Given the description of an element on the screen output the (x, y) to click on. 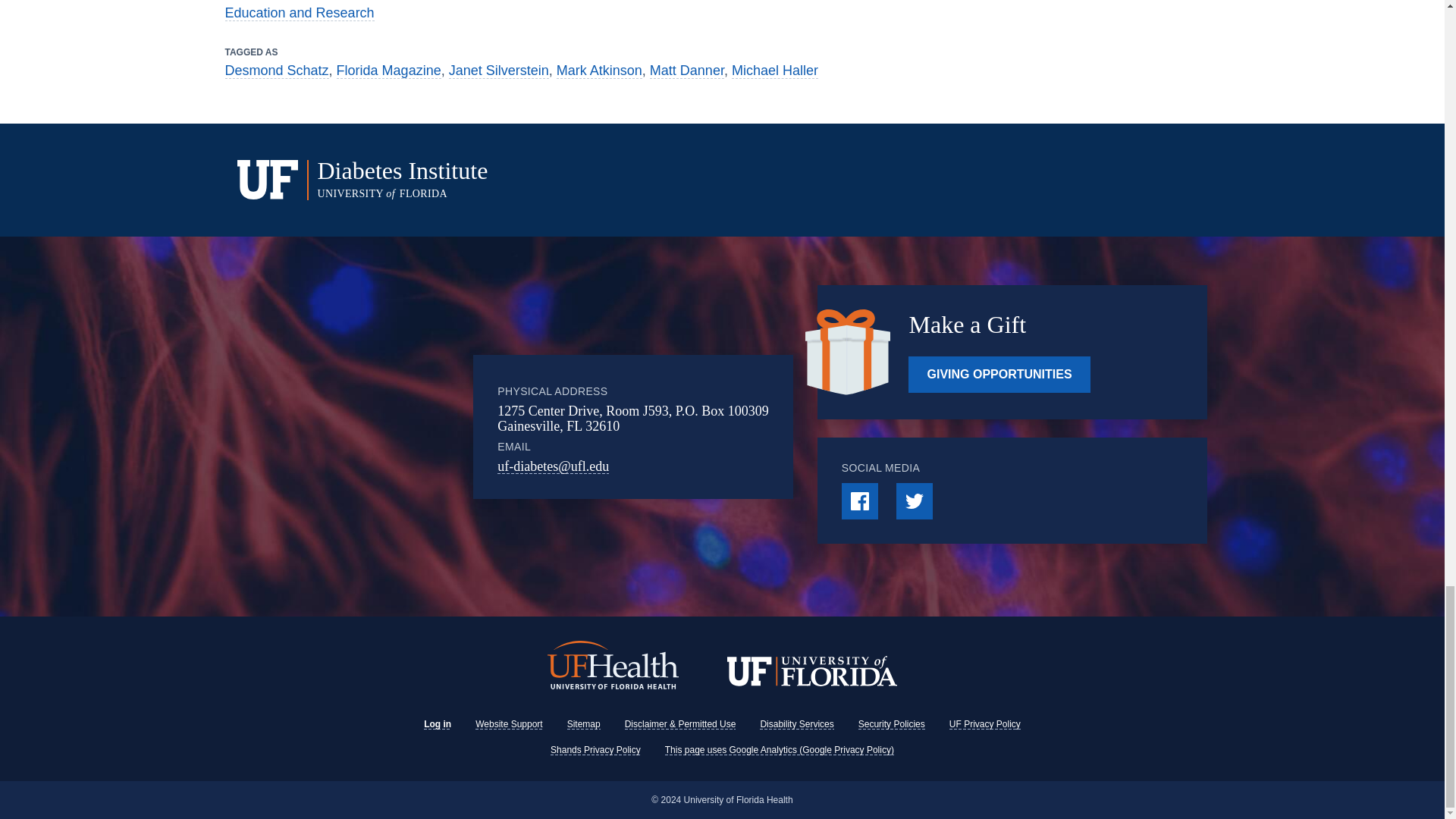
Log in (437, 724)
UF Privacy Policy (984, 724)
Sitemap (583, 724)
Google Maps Embed (402, 426)
Website Support (509, 724)
Shands Privacy Policy (595, 749)
Disability Services (796, 724)
Security Policies (891, 724)
